Given the description of an element on the screen output the (x, y) to click on. 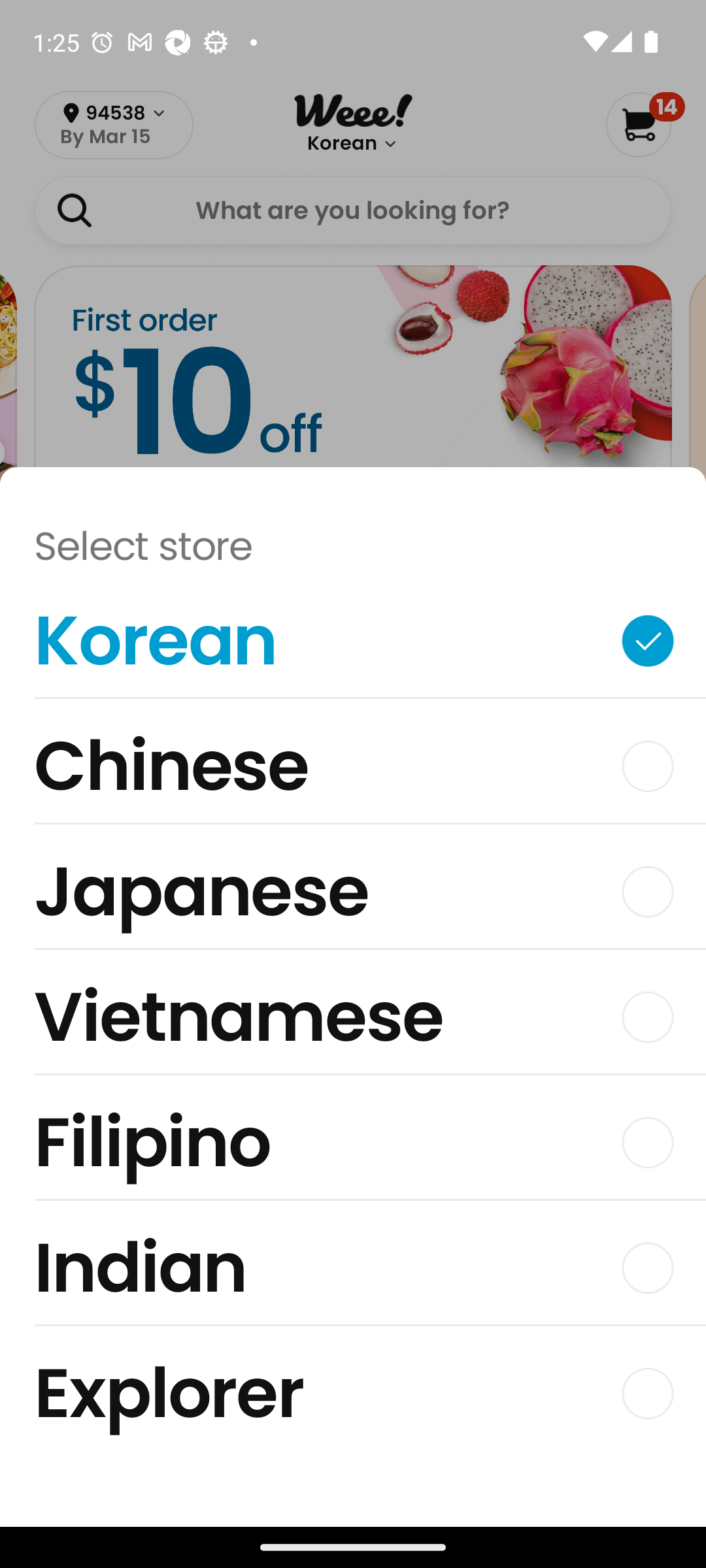
Korean (353, 645)
Chinese (353, 771)
Japanese (353, 896)
Vietnamese (353, 1022)
Filipino (353, 1147)
Indian (353, 1272)
Explorer (353, 1392)
